Given the description of an element on the screen output the (x, y) to click on. 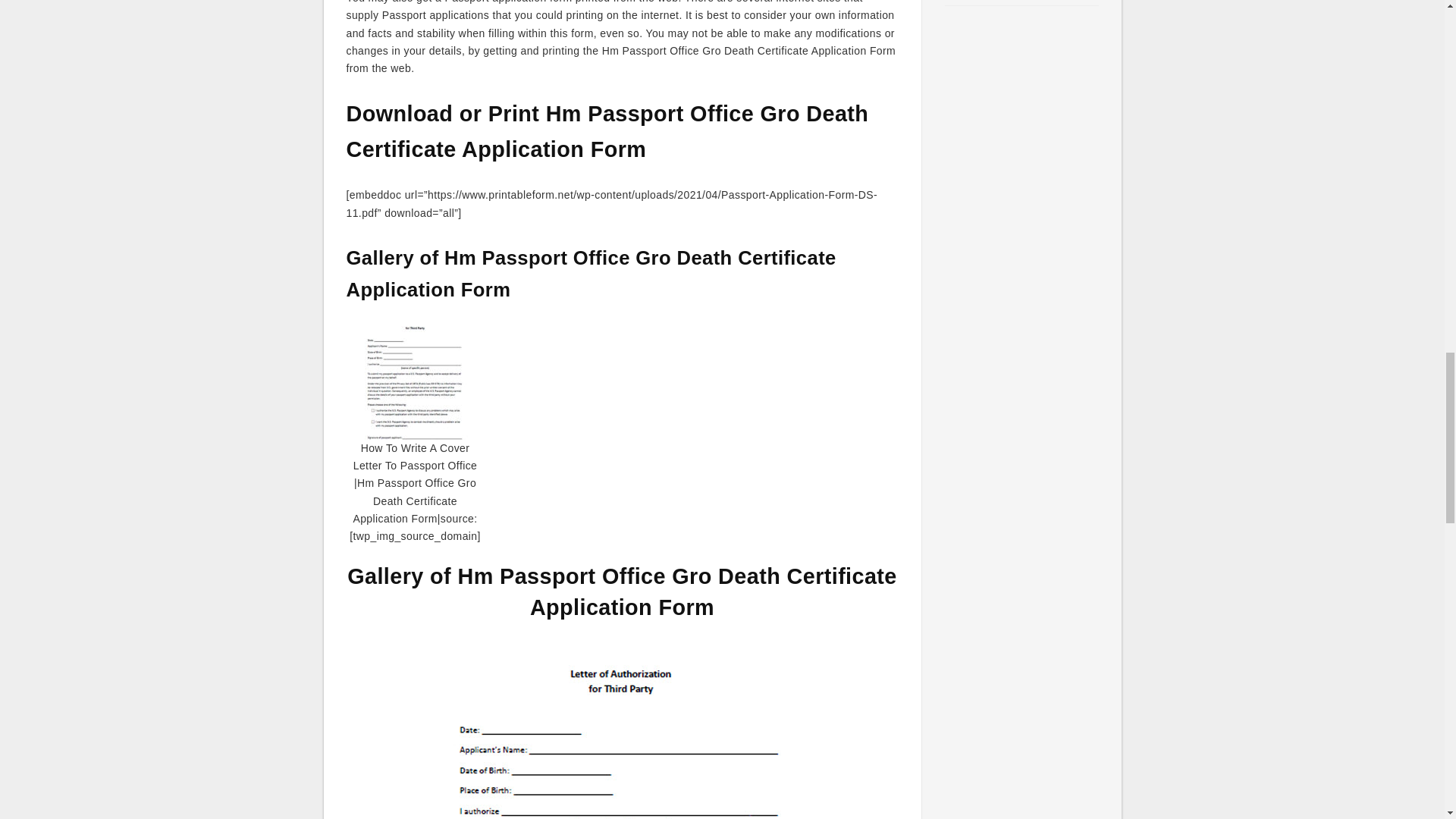
How To Write A Cover Letter To Passport Office (622, 729)
